Given the description of an element on the screen output the (x, y) to click on. 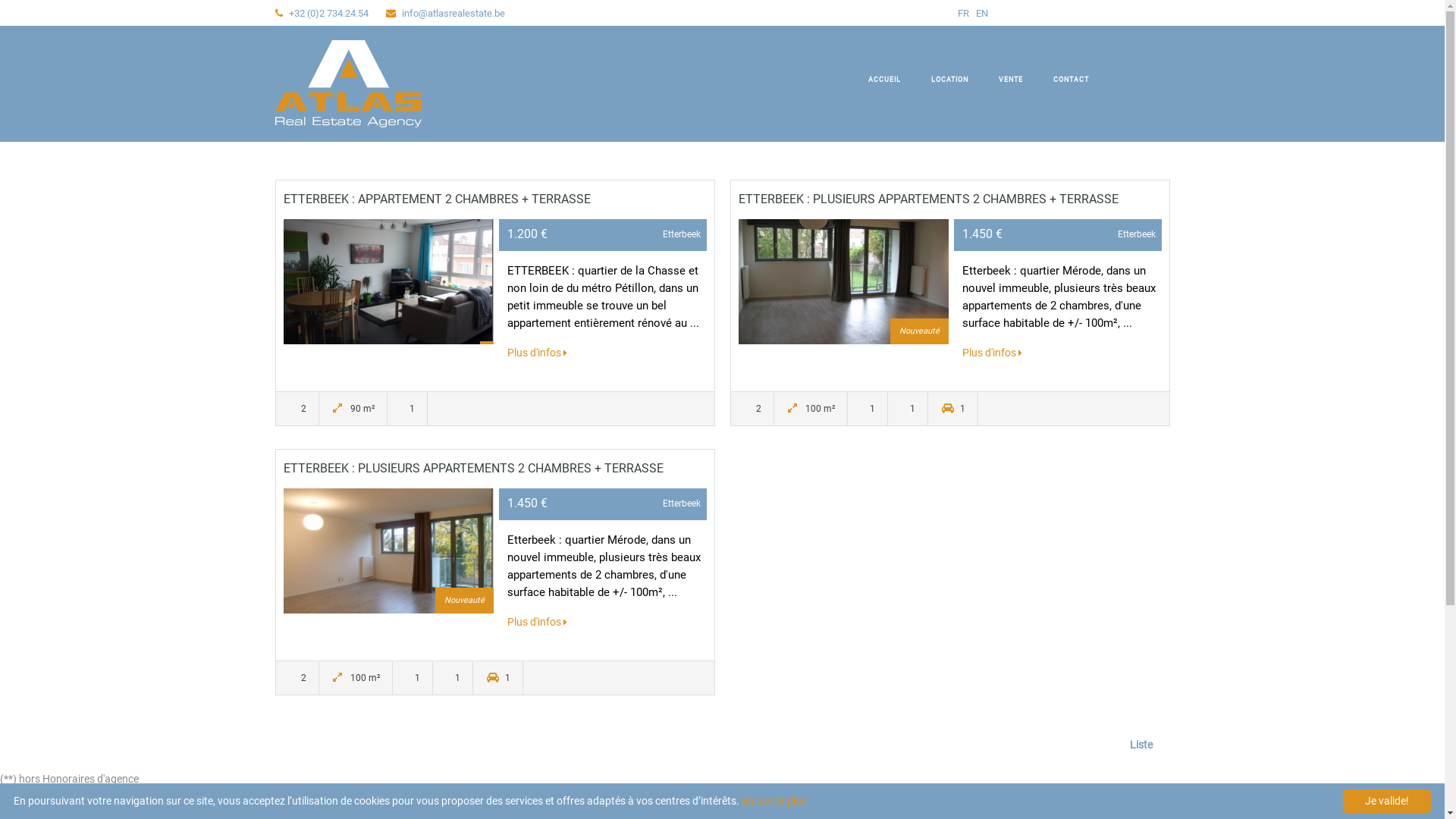
ETTERBEEK : PLUSIEURS APPARTEMENTS 2 CHAMBRES + TERRASSE Element type: text (473, 468)
Plus d'infos Element type: text (536, 621)
+32 (0)2 734.24.54 Element type: text (327, 12)
Plus d'infos Element type: text (536, 352)
 Liste Element type: text (1139, 744)
Plus d'infos Element type: text (991, 352)
EN Element type: text (981, 12)
ETTERBEEK : APPARTEMENT 2 CHAMBRES + TERRASSE Element type: text (436, 198)
ACCUEIL Element type: text (884, 79)
FR Element type: text (963, 12)
LOCATION Element type: text (948, 79)
info@atlasrealestate.be Element type: text (453, 12)
VENTE Element type: text (1010, 79)
En savoir plus Element type: text (773, 800)
CONTACT Element type: text (1070, 79)
ETTERBEEK : PLUSIEURS APPARTEMENTS 2 CHAMBRES + TERRASSE Element type: text (928, 198)
